Given the description of an element on the screen output the (x, y) to click on. 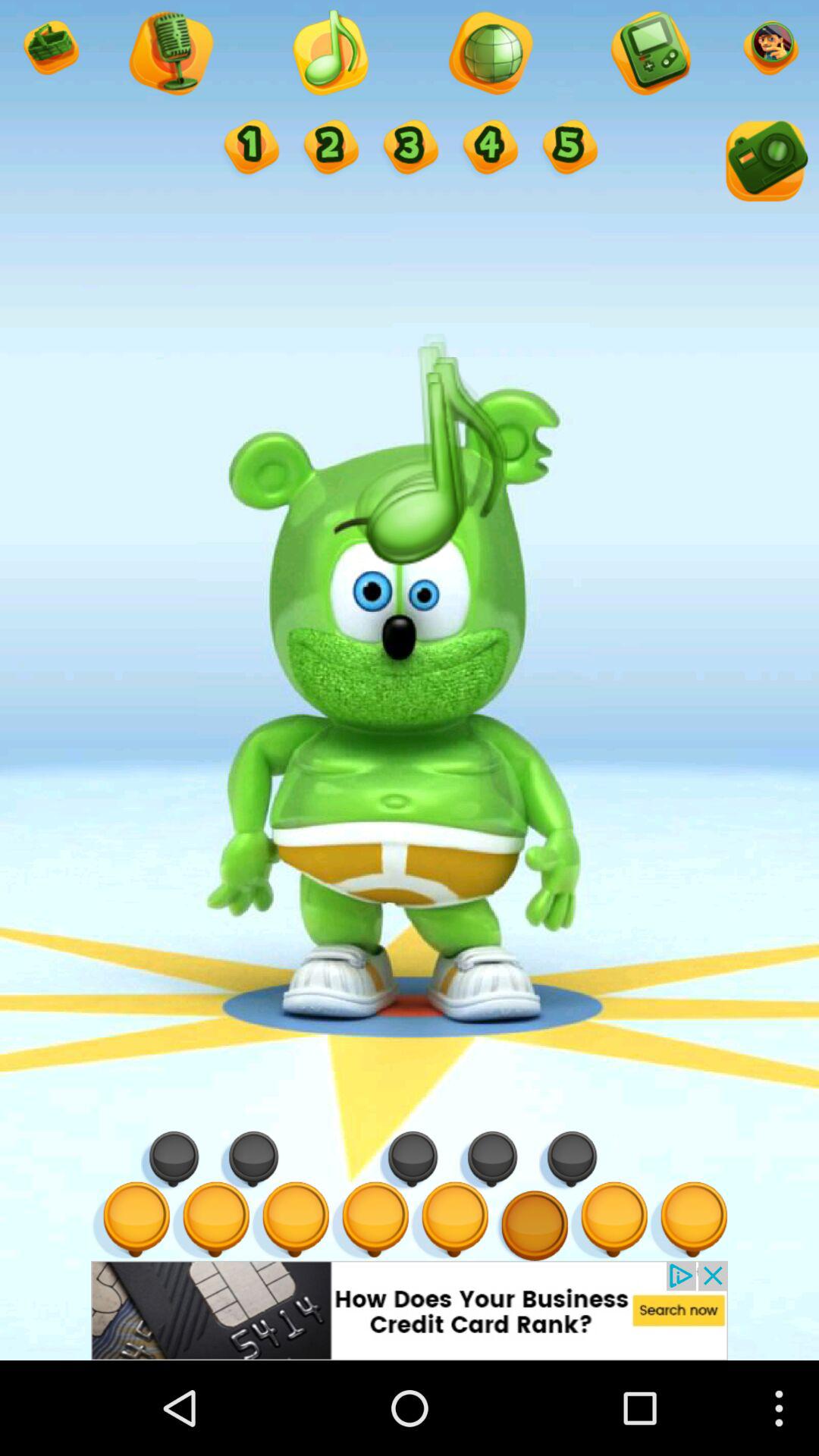
click to five (568, 149)
